Given the description of an element on the screen output the (x, y) to click on. 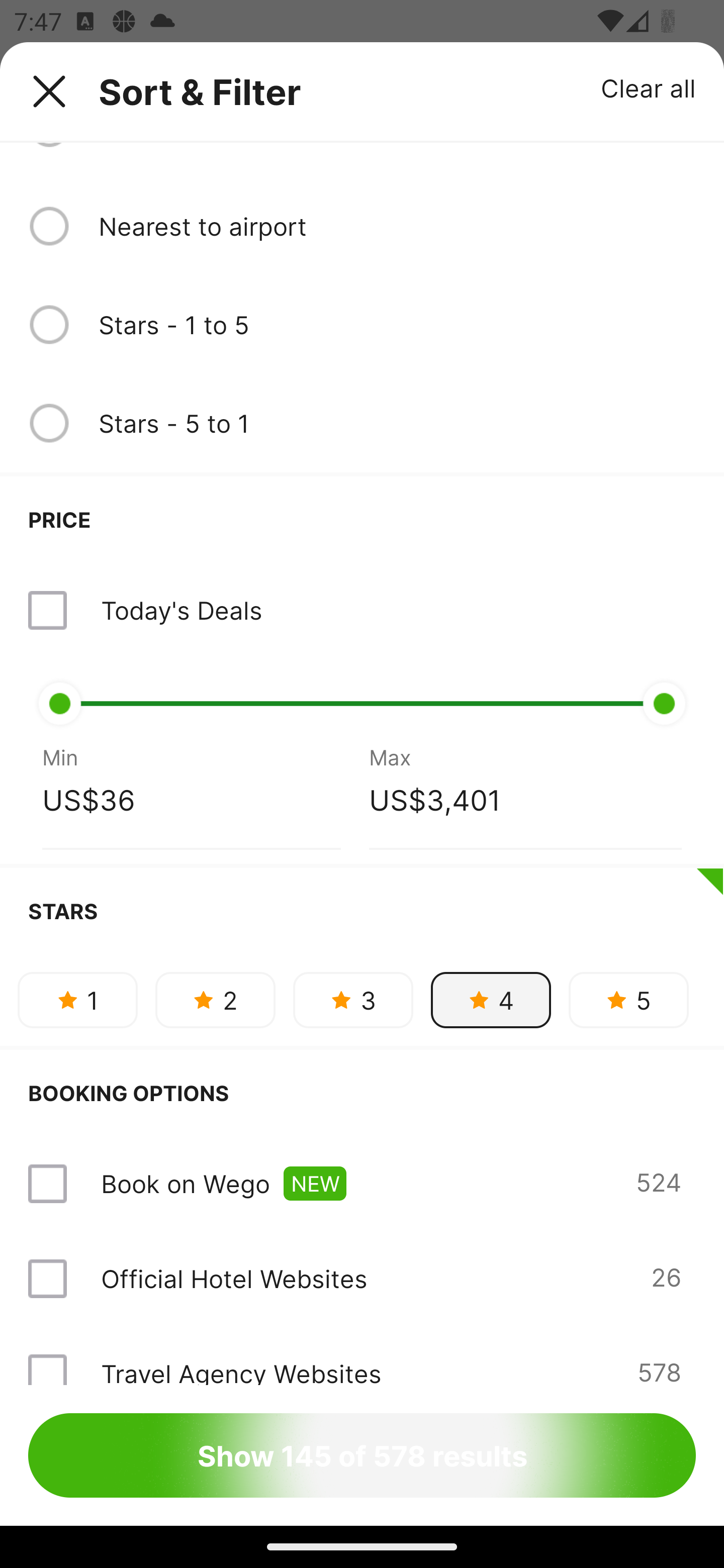
Clear all (648, 87)
Nearest to airport (396, 225)
Stars - 1 to 5 (396, 324)
Stars - 5 to 1 (396, 423)
Today's Deals (362, 610)
Today's Deals (181, 609)
1 (77, 1000)
2 (214, 1000)
3 (352, 1000)
4 (491, 1000)
5 (627, 1000)
Book on Wego NEW 524 (362, 1183)
Book on Wego (184, 1183)
Official Hotel Websites 26 (362, 1278)
Official Hotel Websites (233, 1278)
Travel Agency Websites 578 (362, 1355)
Travel Agency Websites (240, 1370)
Show 145 of 578 results (361, 1454)
